Given the description of an element on the screen output the (x, y) to click on. 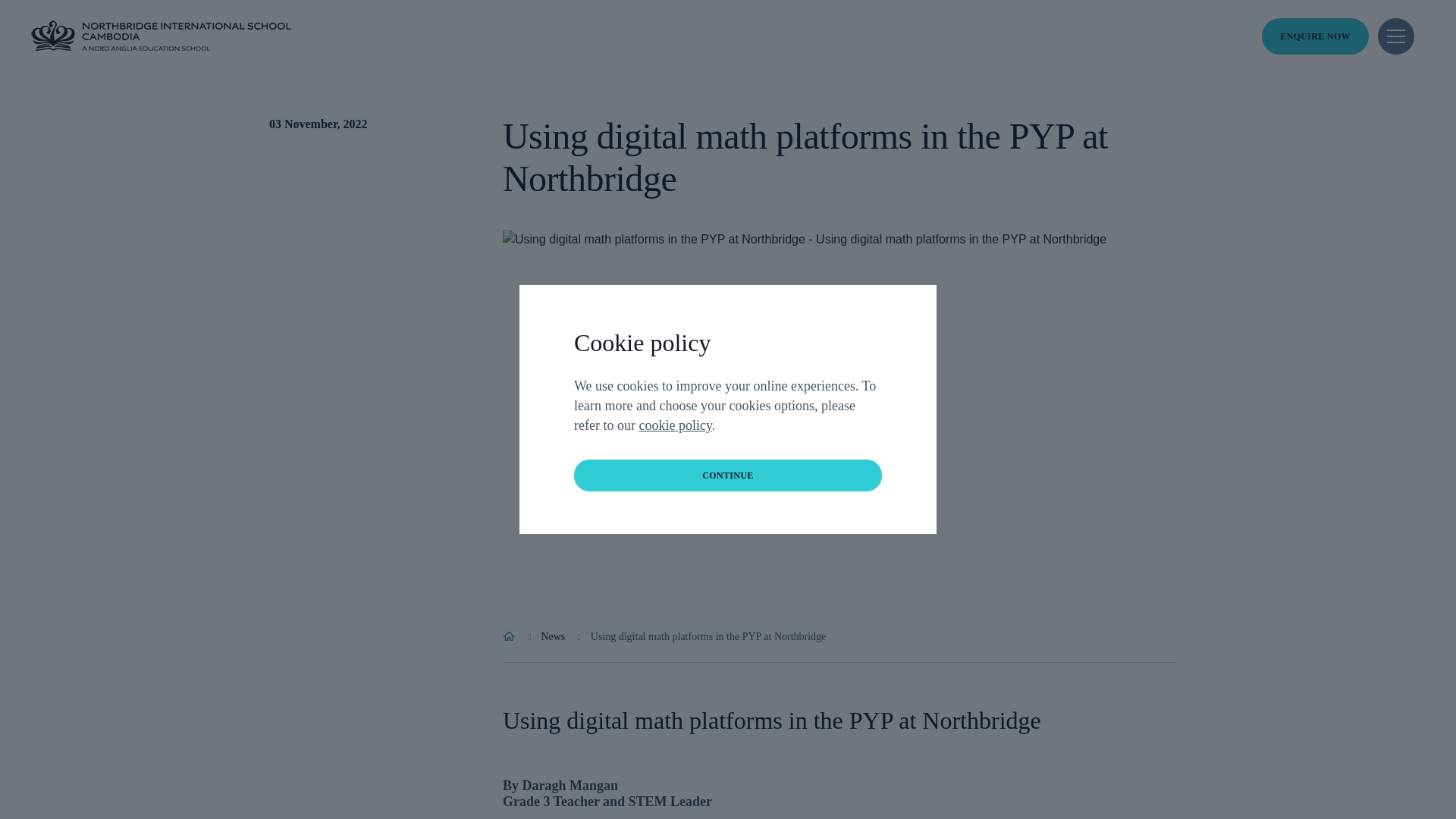
ENQUIRE NOW (1315, 36)
Enquire Now (1315, 36)
